Given the description of an element on the screen output the (x, y) to click on. 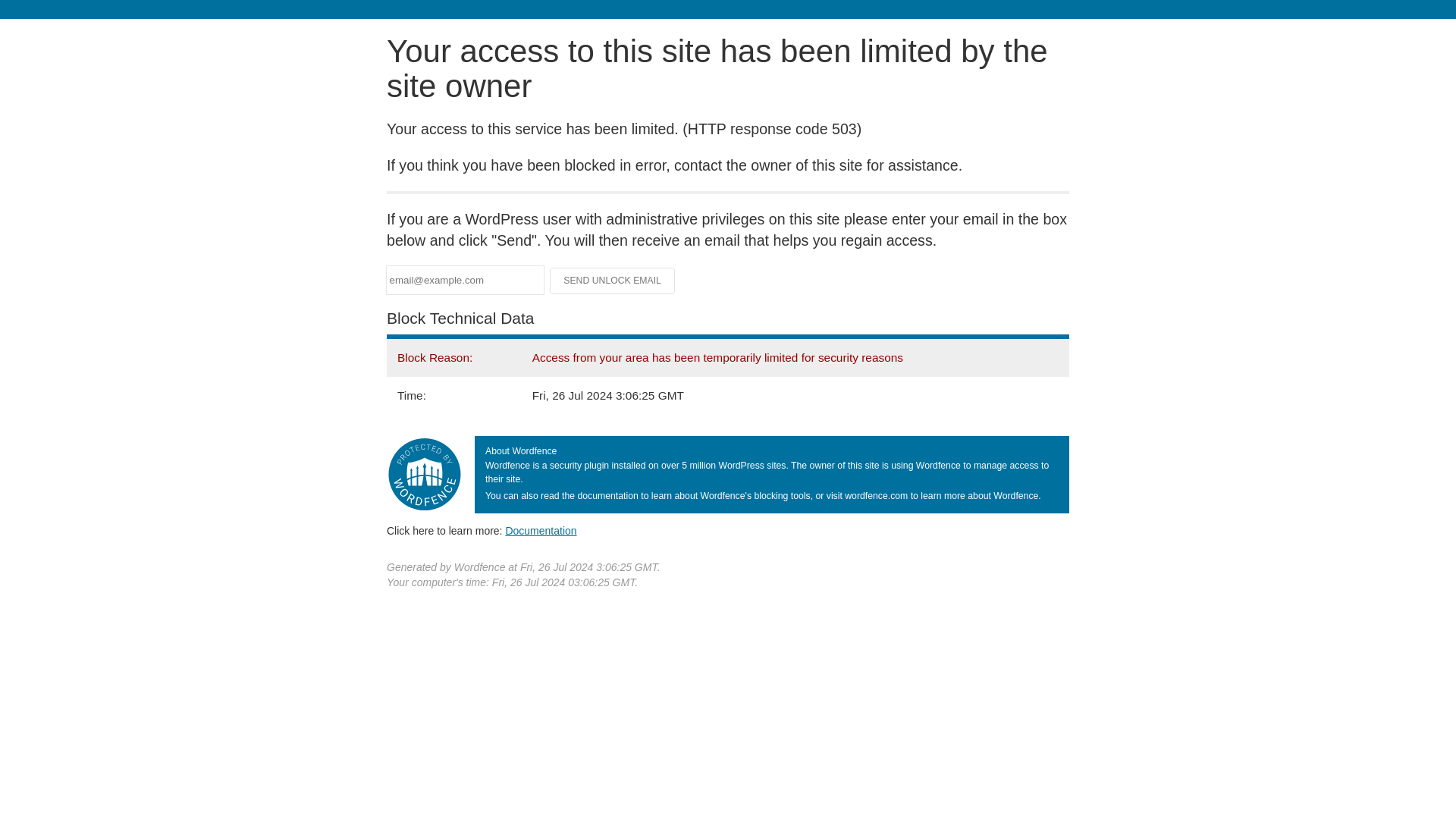
Send Unlock Email (612, 280)
Send Unlock Email (612, 280)
